Given the description of an element on the screen output the (x, y) to click on. 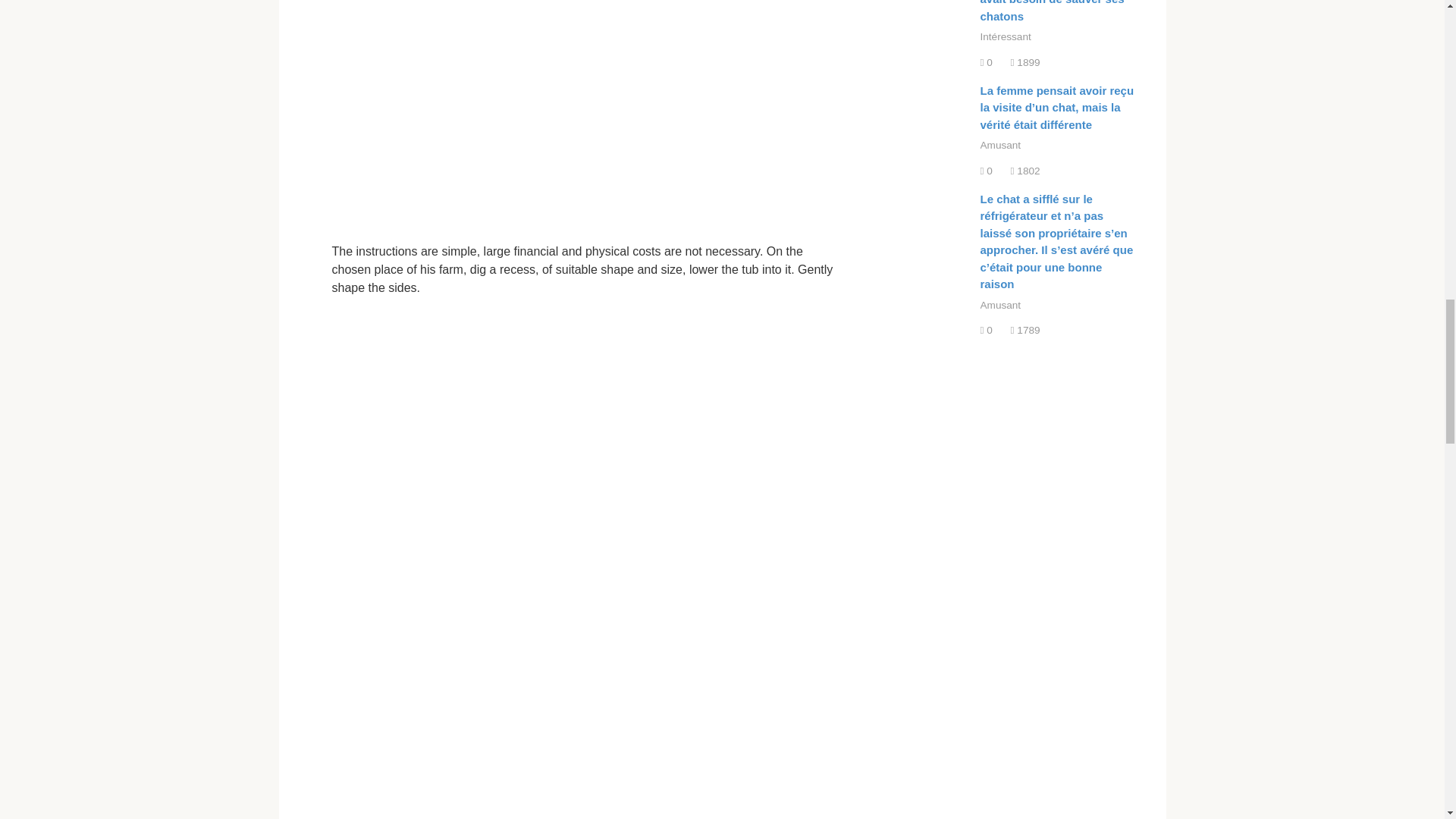
Amusant (999, 305)
Views (1025, 61)
Comments (985, 61)
Amusant (999, 144)
